Given the description of an element on the screen output the (x, y) to click on. 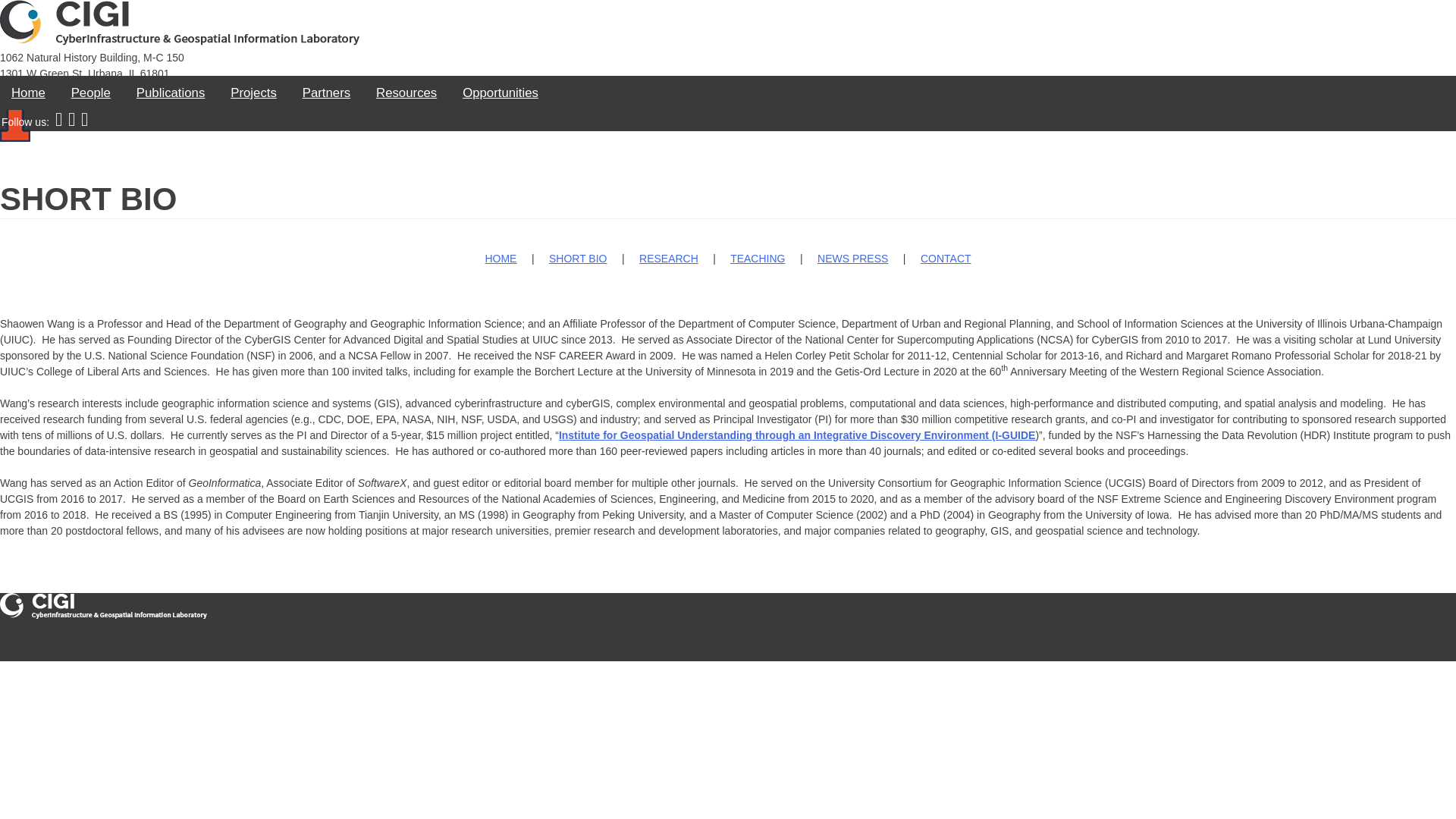
NEWS PRESS (852, 258)
People (90, 92)
Partners (326, 92)
SHORT BIO (577, 258)
Opportunities (500, 92)
Resources (406, 92)
Home (28, 92)
HOME (500, 258)
TEACHING (757, 258)
RESEARCH (668, 258)
CONTACT (945, 258)
Projects (253, 92)
Publications (170, 92)
